Given the description of an element on the screen output the (x, y) to click on. 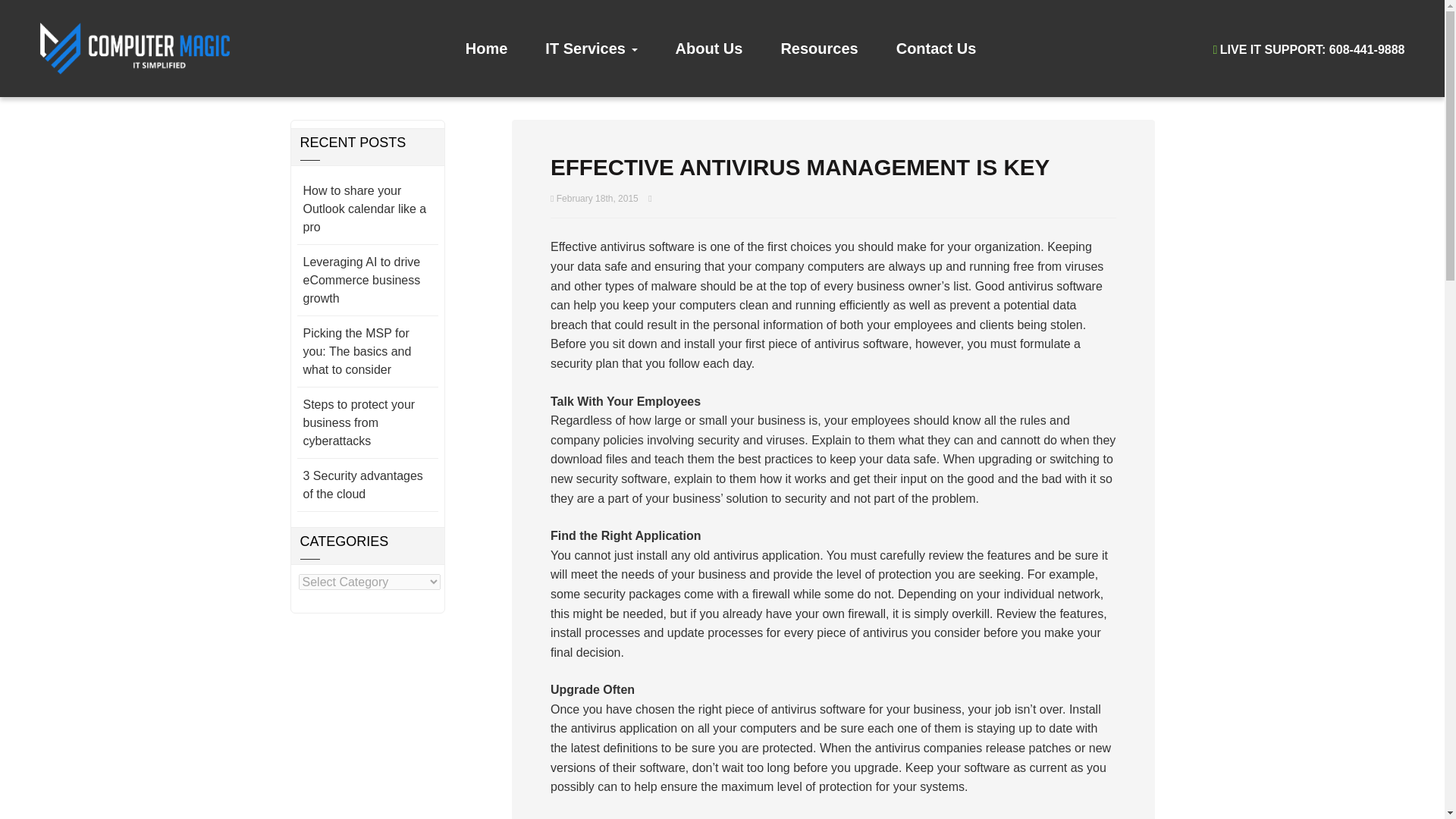
Home (486, 48)
Contact Us (936, 48)
LIVE IT SUPPORT: 608-441-9888 (1308, 49)
Resources (818, 48)
About Us (708, 48)
IT Services (590, 48)
